Given the description of an element on the screen output the (x, y) to click on. 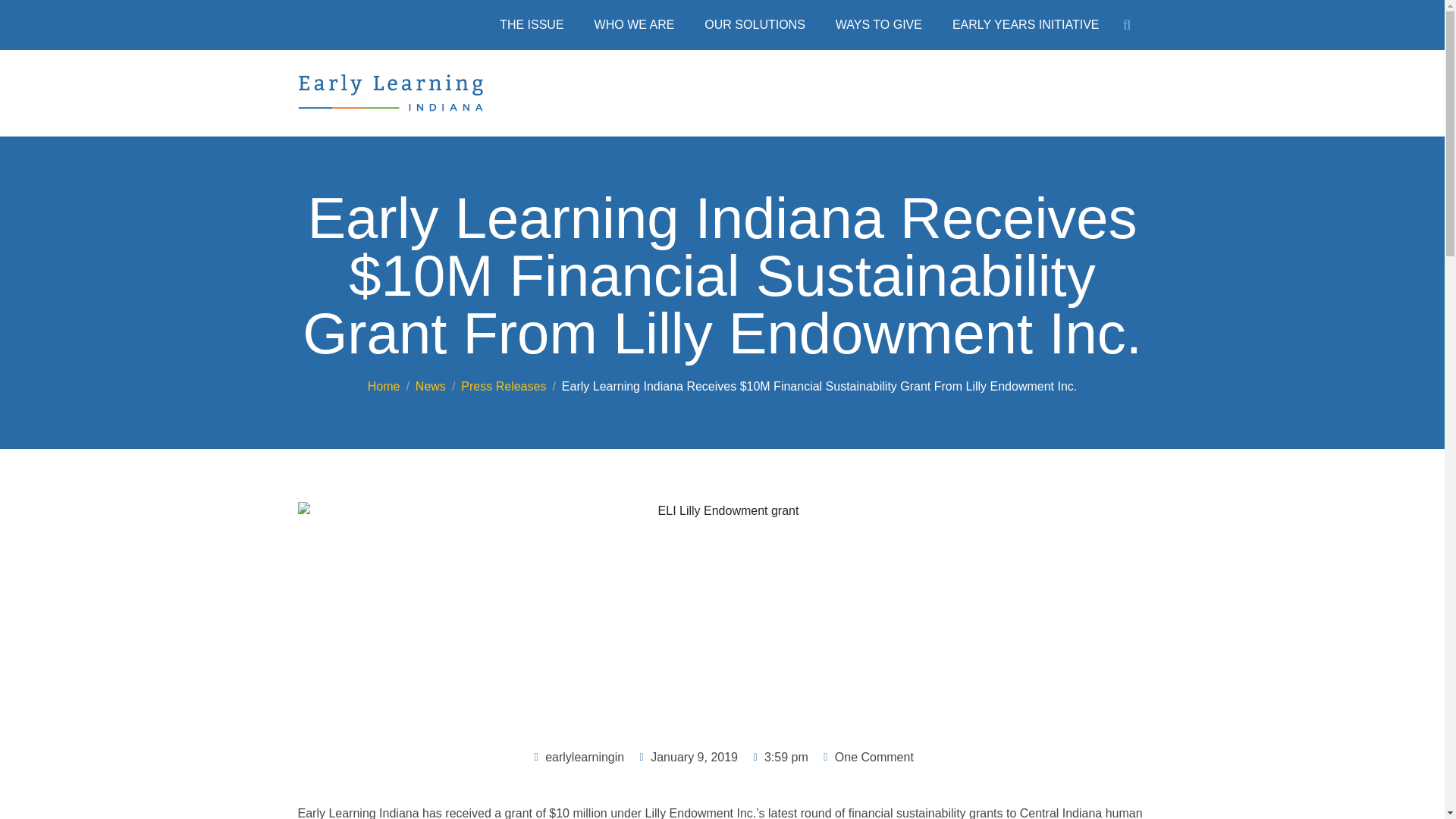
EARLY YEARS INITIATIVE (1026, 24)
THE ISSUE (531, 24)
WHO WE ARE (634, 24)
WAYS TO GIVE (879, 24)
OUR SOLUTIONS (753, 24)
